Given the description of an element on the screen output the (x, y) to click on. 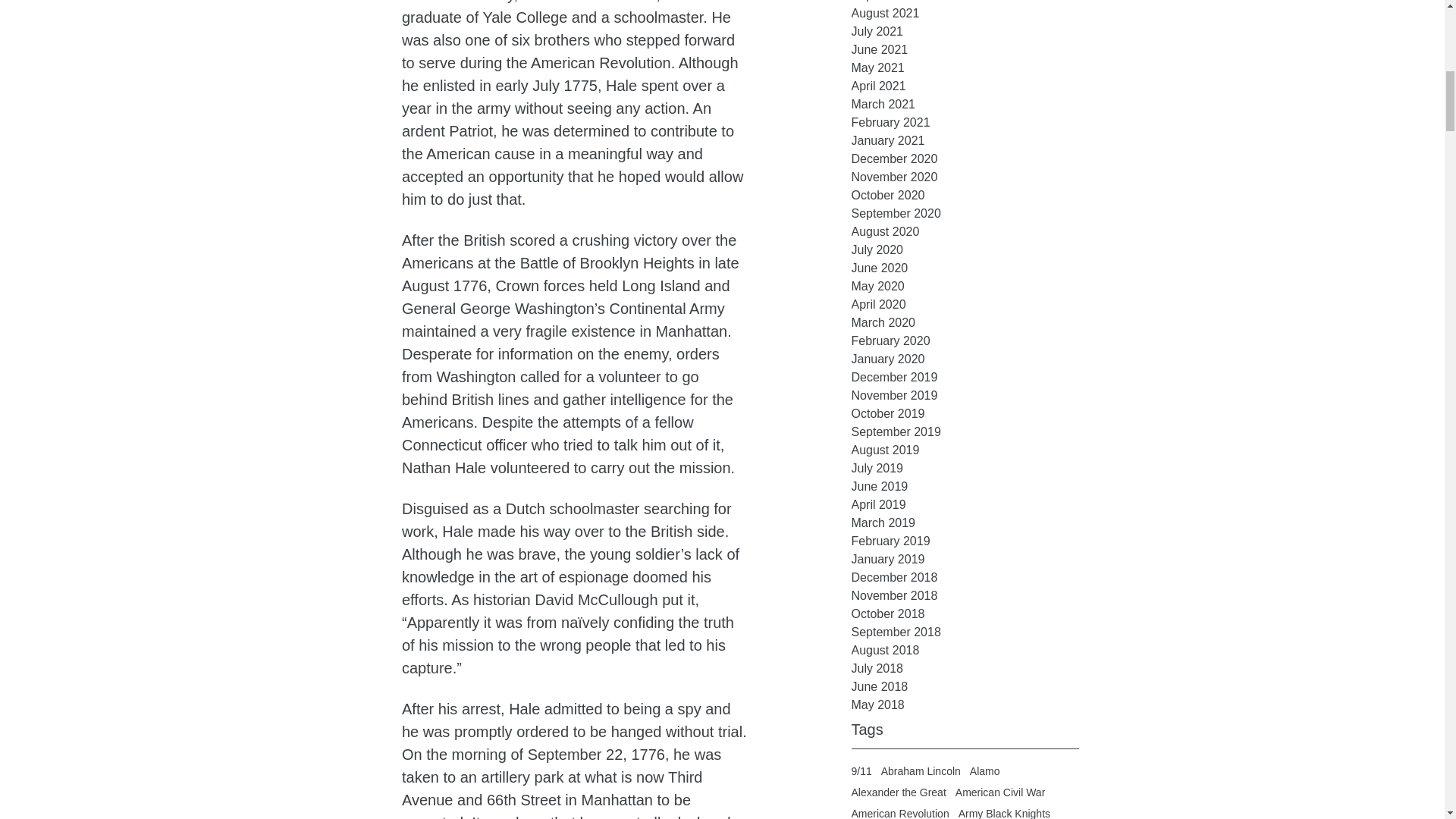
September 2021 (964, 2)
April 2021 (964, 85)
January 2021 (964, 140)
October 2020 (964, 195)
July 2021 (964, 31)
September 2020 (964, 213)
August 2020 (964, 231)
November 2020 (964, 177)
December 2020 (964, 158)
August 2021 (964, 13)
